Given the description of an element on the screen output the (x, y) to click on. 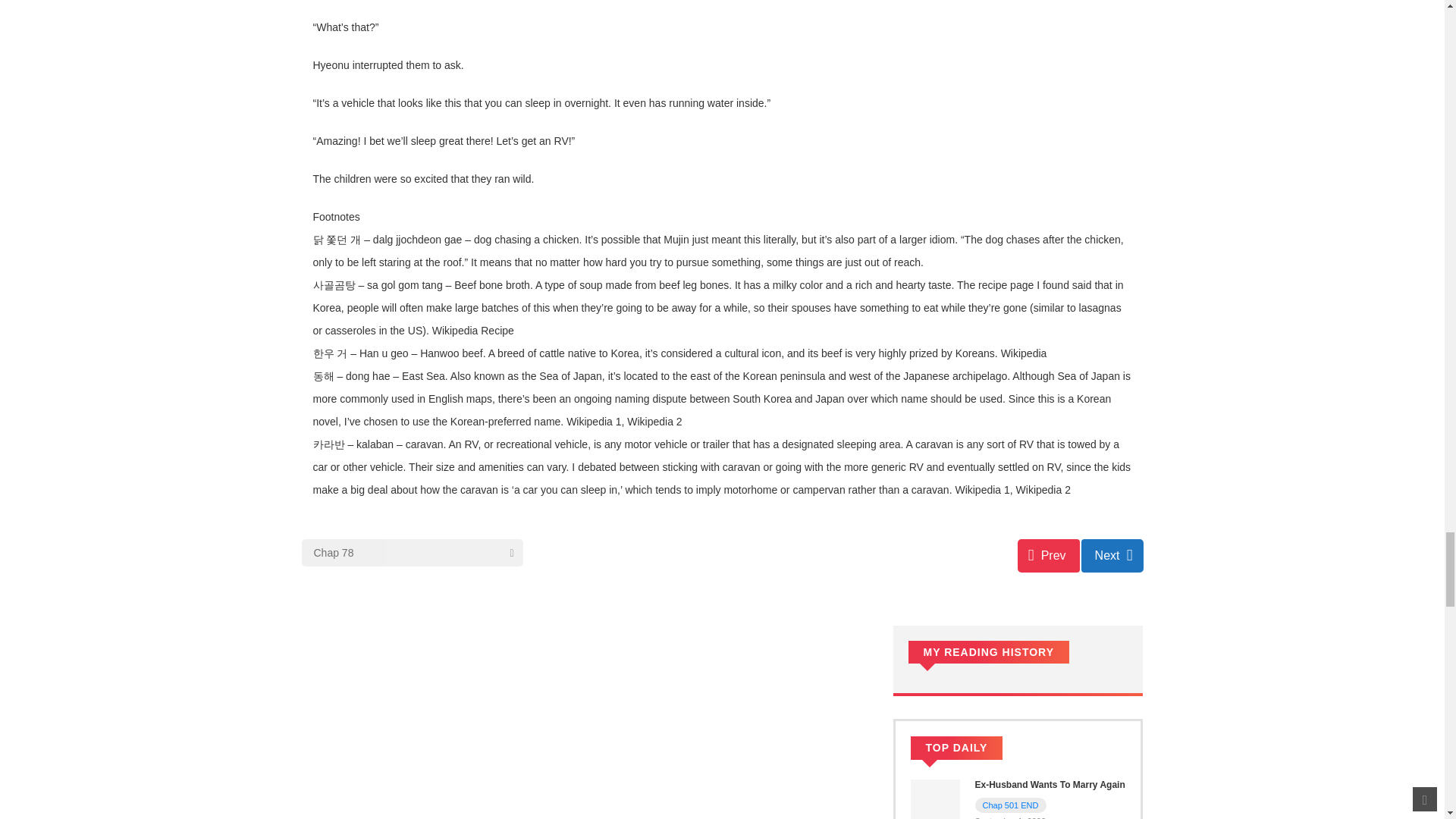
Chap 77 (1048, 555)
Prev (1048, 555)
Ex-Husband Wants To Marry Again (1050, 784)
Chap 79 (1111, 555)
Ex-Husband Wants To Marry Again (1050, 784)
Chap 501 END (1010, 804)
Next (1111, 555)
